Given the description of an element on the screen output the (x, y) to click on. 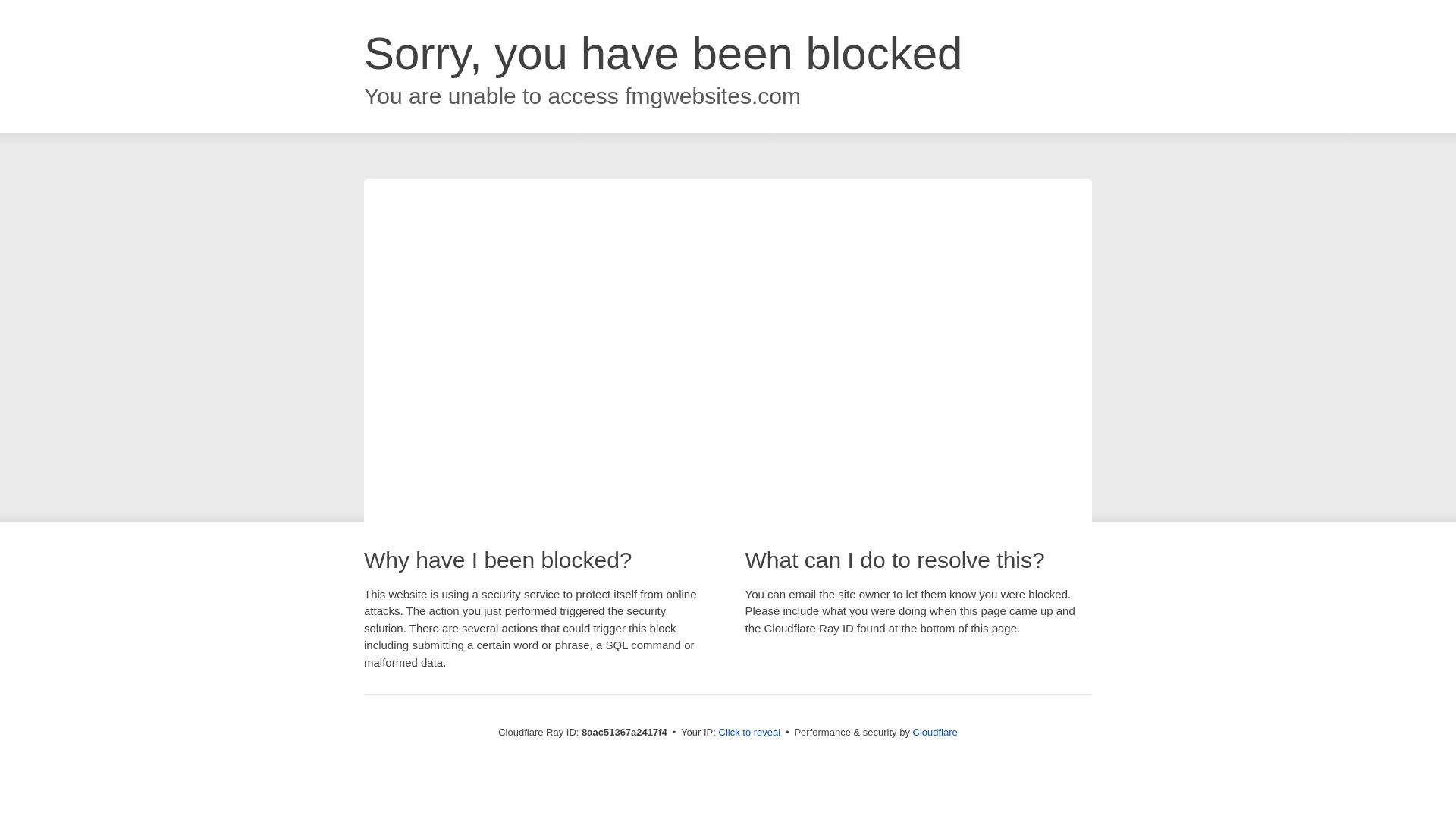
Click to reveal (749, 732)
Cloudflare (935, 731)
